Given the description of an element on the screen output the (x, y) to click on. 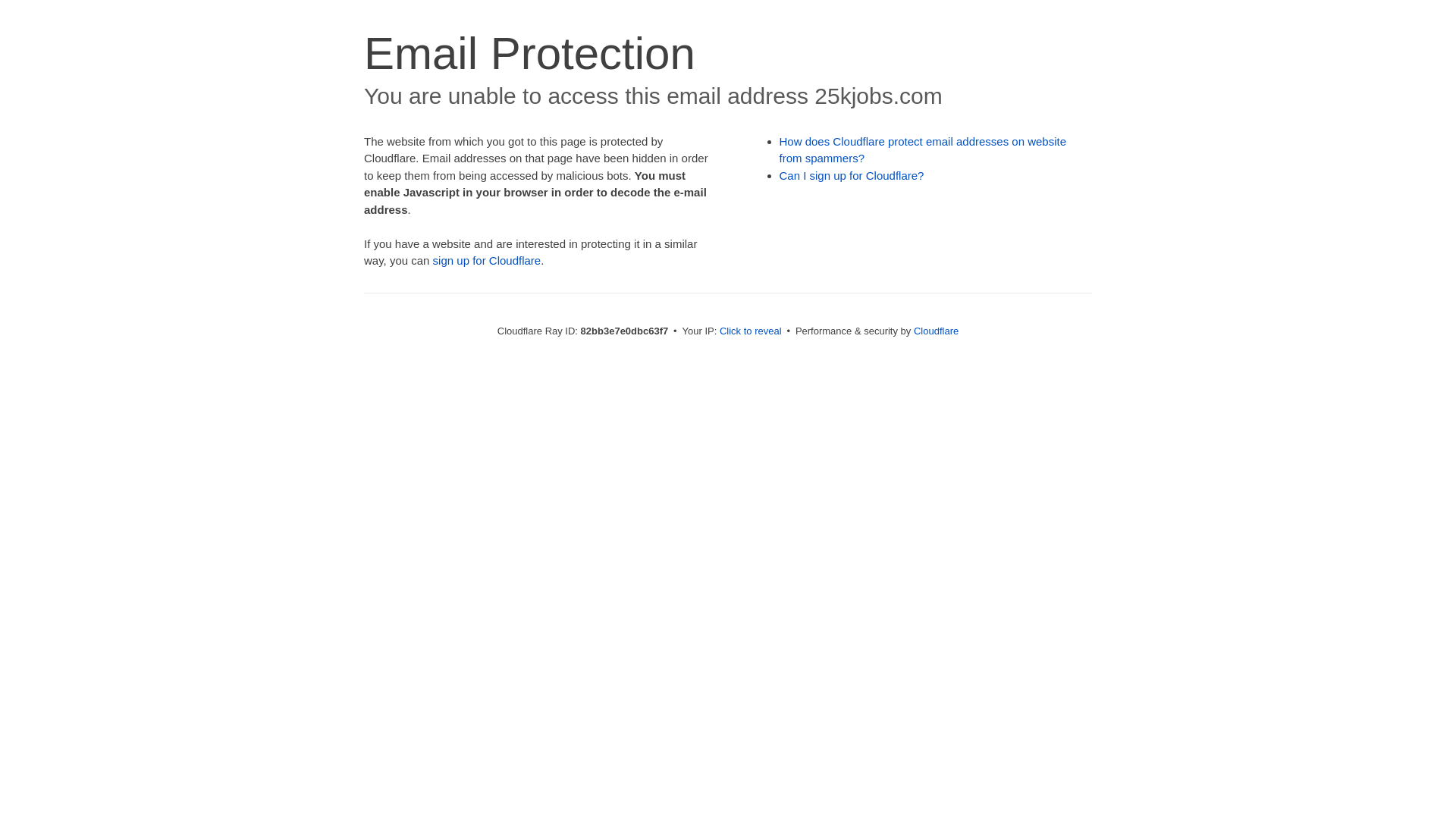
Cloudflare Element type: text (935, 330)
Click to reveal Element type: text (750, 330)
sign up for Cloudflare Element type: text (487, 260)
Can I sign up for Cloudflare? Element type: text (851, 175)
